Given the description of an element on the screen output the (x, y) to click on. 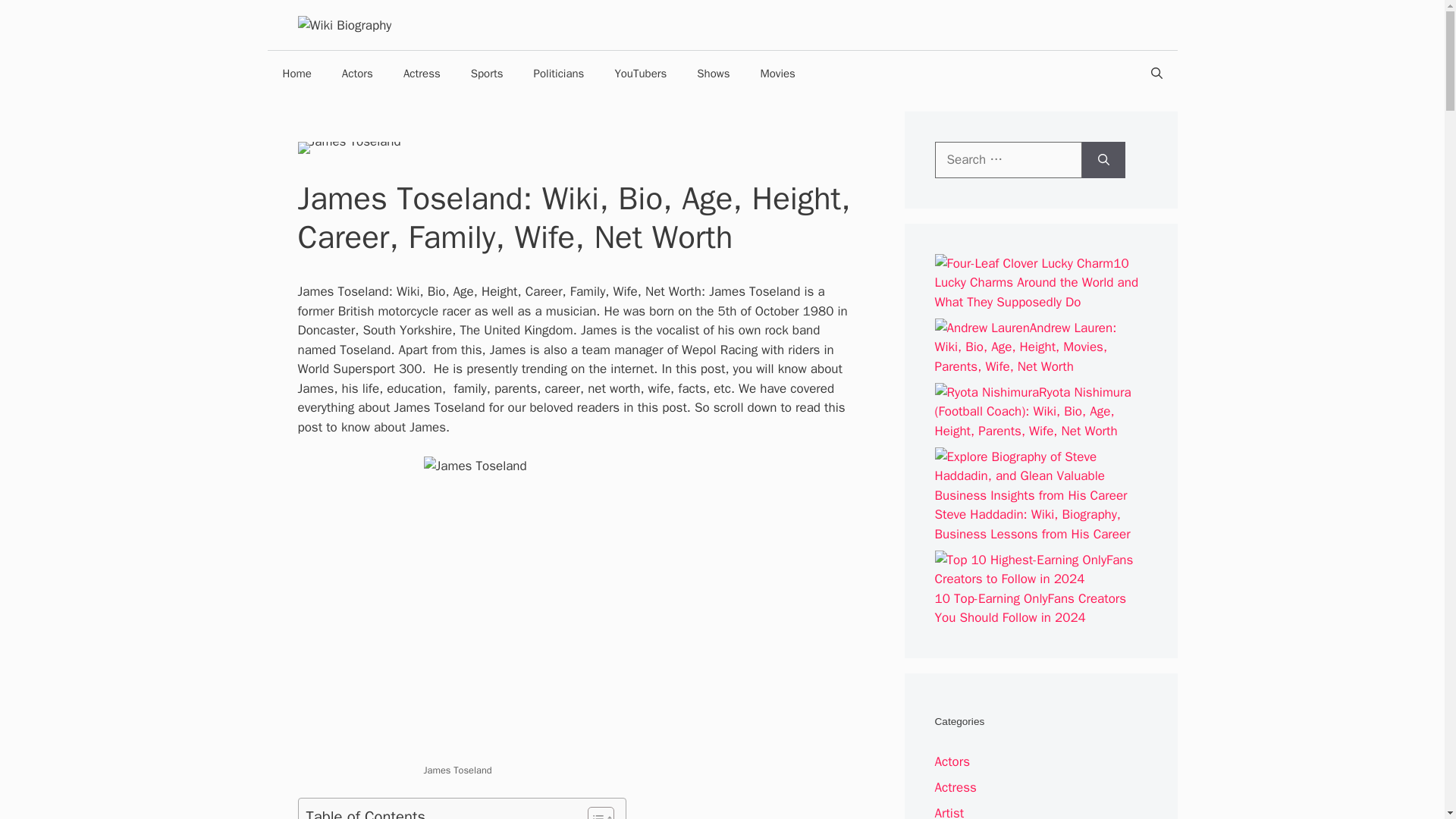
Politicians (558, 73)
Home (296, 73)
Movies (776, 73)
Actress (421, 73)
Sports (486, 73)
Actors (357, 73)
YouTubers (639, 73)
Search for: (1007, 159)
Shows (712, 73)
